Given the description of an element on the screen output the (x, y) to click on. 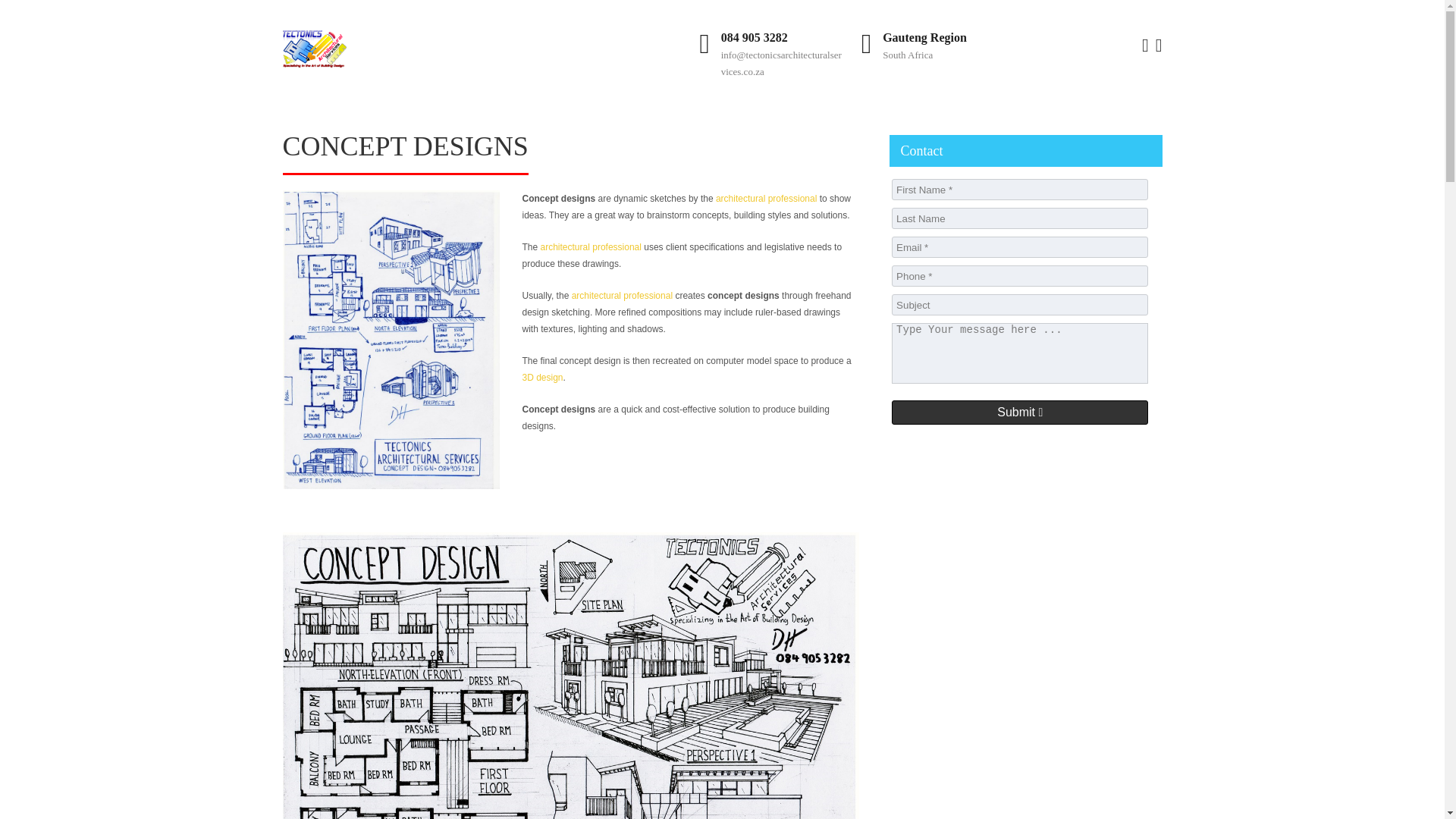
architectural professional (622, 295)
3D design (541, 377)
architectural professional (591, 246)
architectural professional (766, 198)
084 905 3282 (753, 37)
